Given the description of an element on the screen output the (x, y) to click on. 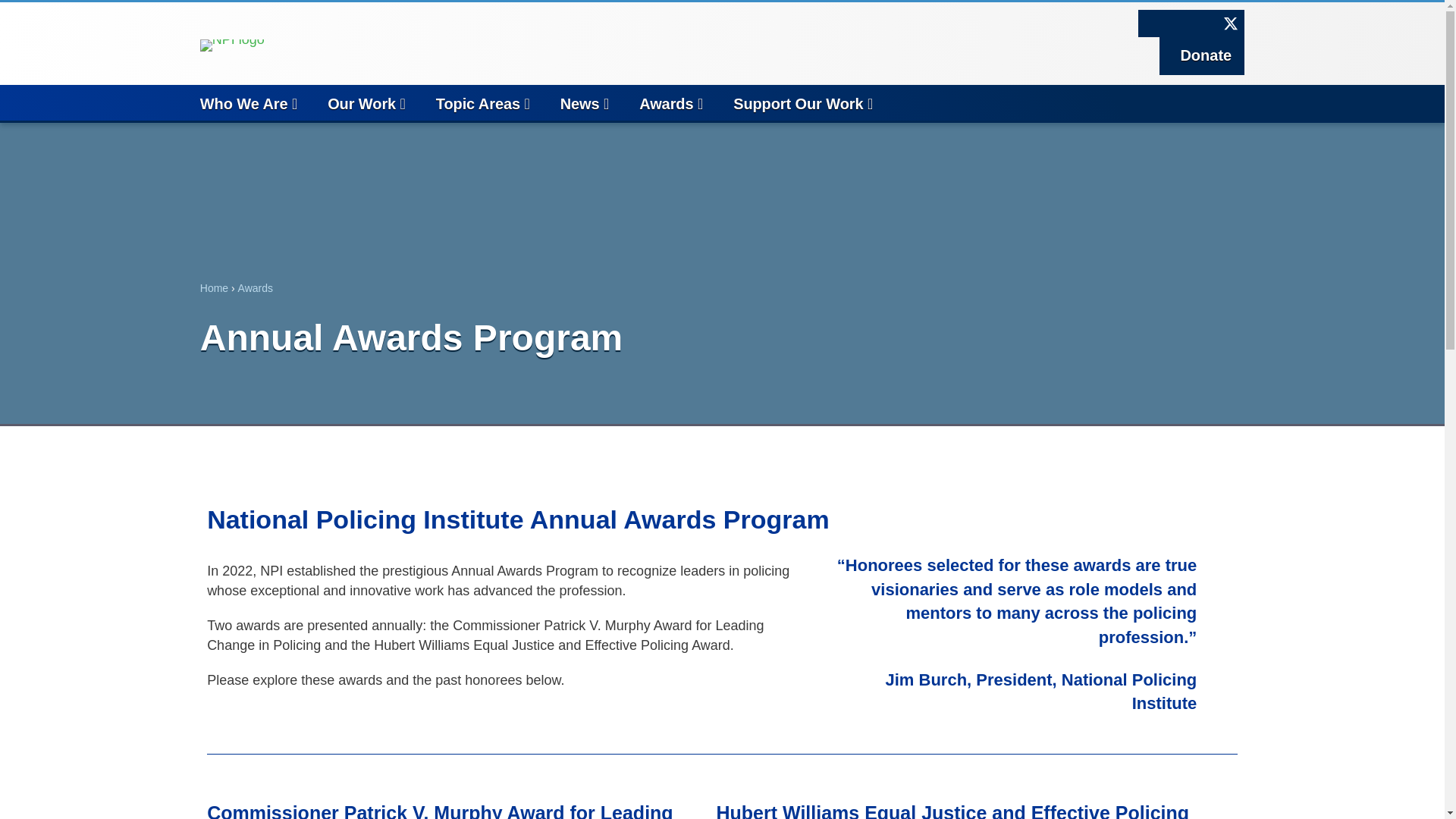
News (600, 102)
Who We Are (263, 102)
Donate (1201, 55)
Awards (686, 102)
Topic Areas (497, 102)
Our Work (381, 102)
NPI-logo-5-header transp 2 (232, 45)
